Given the description of an element on the screen output the (x, y) to click on. 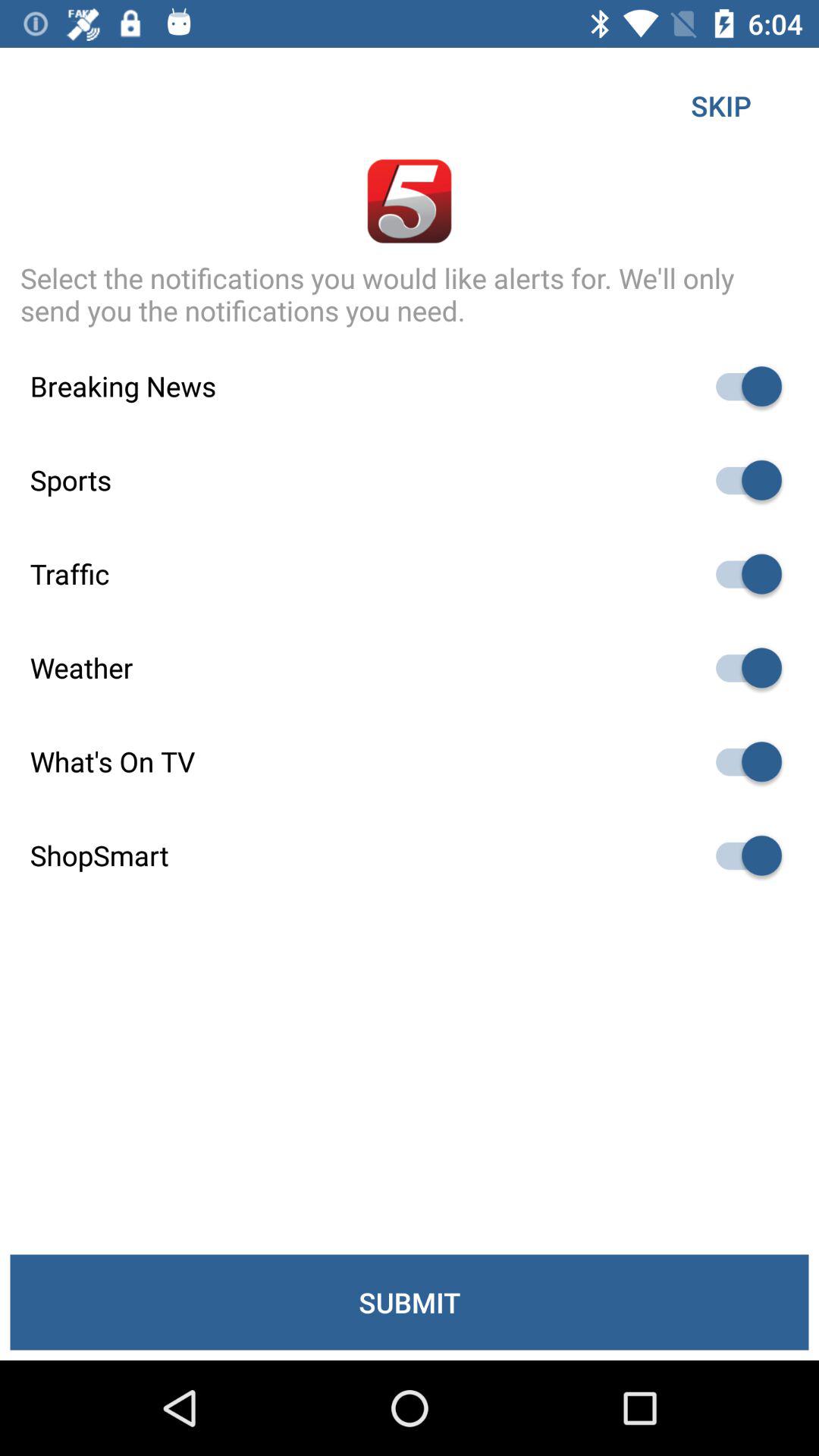
toggle weather alerts (741, 667)
